Given the description of an element on the screen output the (x, y) to click on. 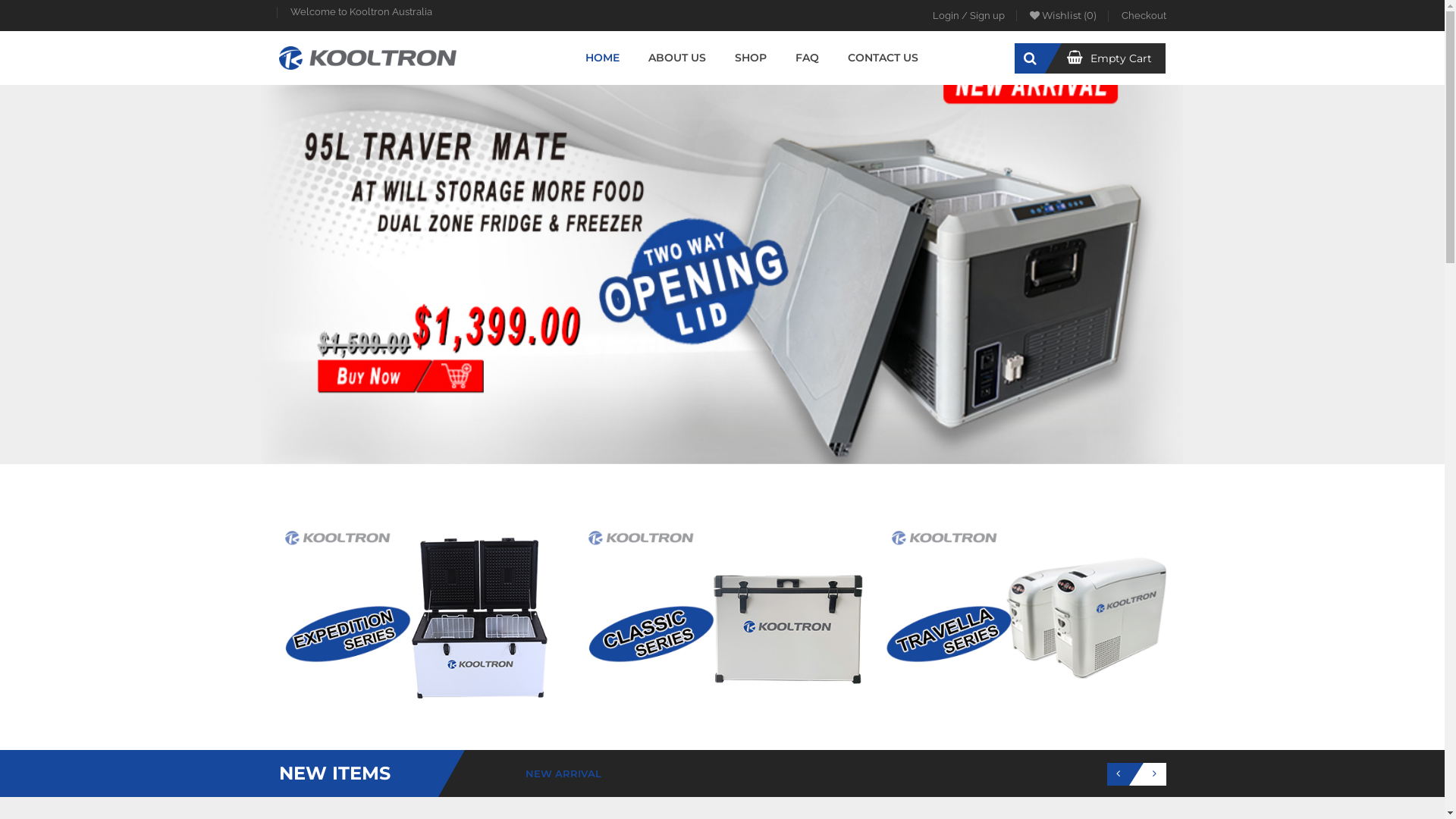
Login Element type: text (945, 15)
FAQ Element type: text (806, 58)
NEW ARRIVAL Element type: text (563, 773)
Empty Cart Element type: text (1108, 63)
ABOUT US Element type: text (676, 58)
Wishlist (0) Element type: text (1062, 14)
Kooltron_logo Element type: hover (367, 57)
Checkout Element type: text (1142, 15)
CONTACT US Element type: text (882, 58)
SHOP Element type: text (750, 58)
Sign up Element type: text (986, 15)
HOME Element type: text (602, 58)
